Given the description of an element on the screen output the (x, y) to click on. 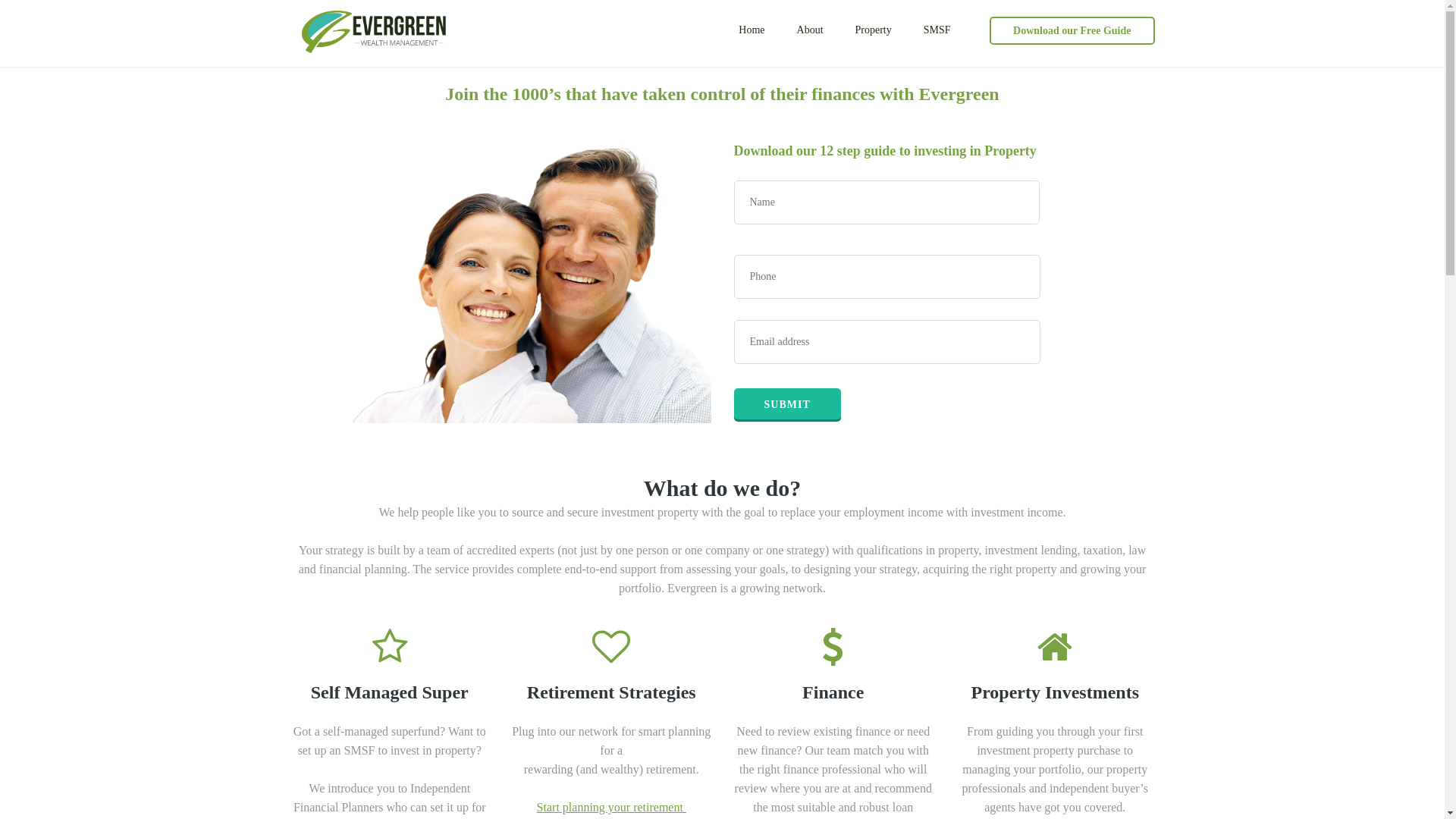
Home Element type: text (751, 30)
Start planning your retirement  Element type: text (611, 806)
About Element type: text (810, 30)
Property Element type: text (873, 30)
Submit Element type: text (787, 404)
Download our Free Guide Element type: text (1071, 30)
SMSF Element type: text (936, 30)
